Given the description of an element on the screen output the (x, y) to click on. 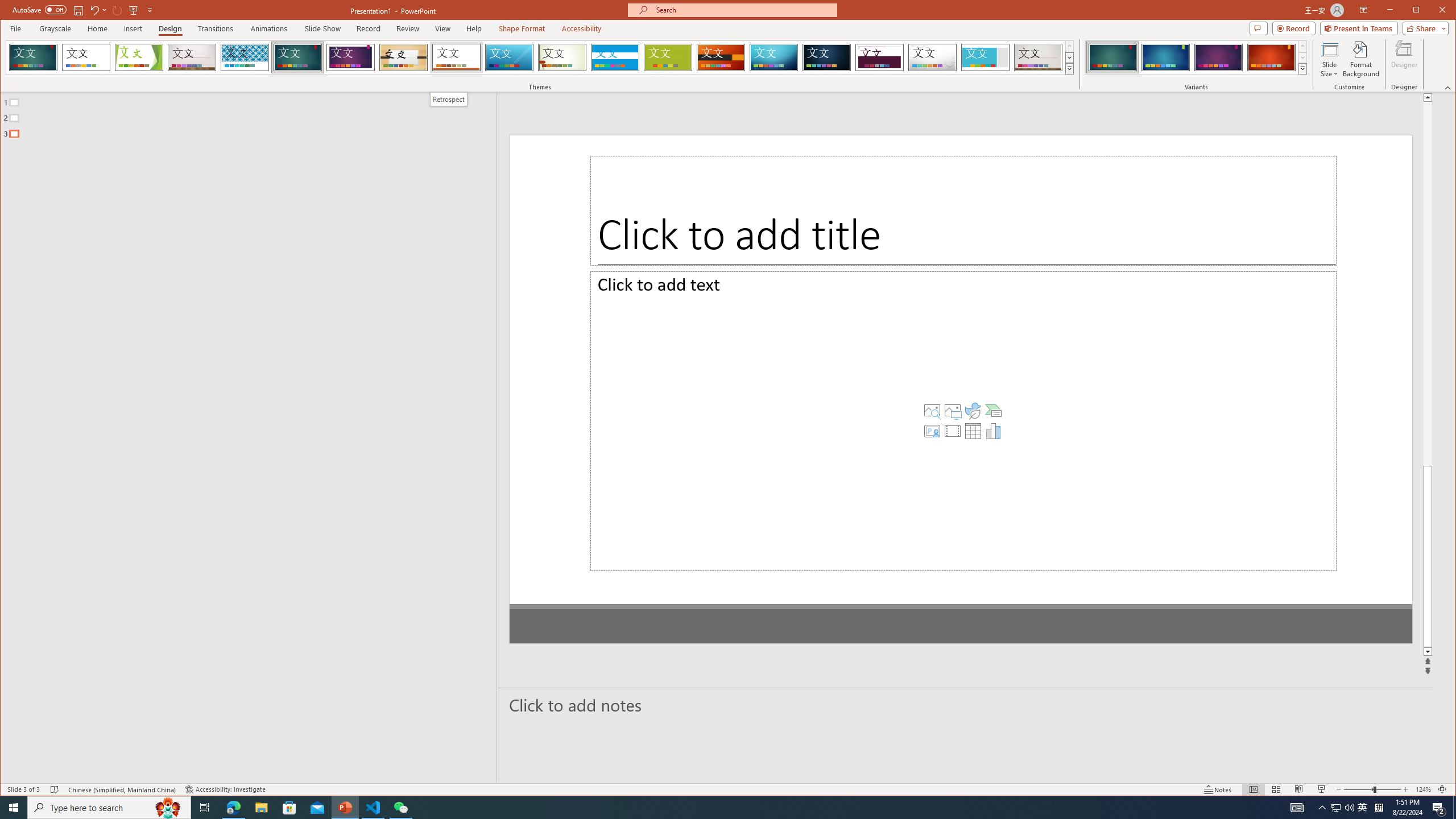
Retrospect (448, 98)
Wisp (561, 57)
AutomationID: SlideThemesGallery (540, 57)
